Given the description of an element on the screen output the (x, y) to click on. 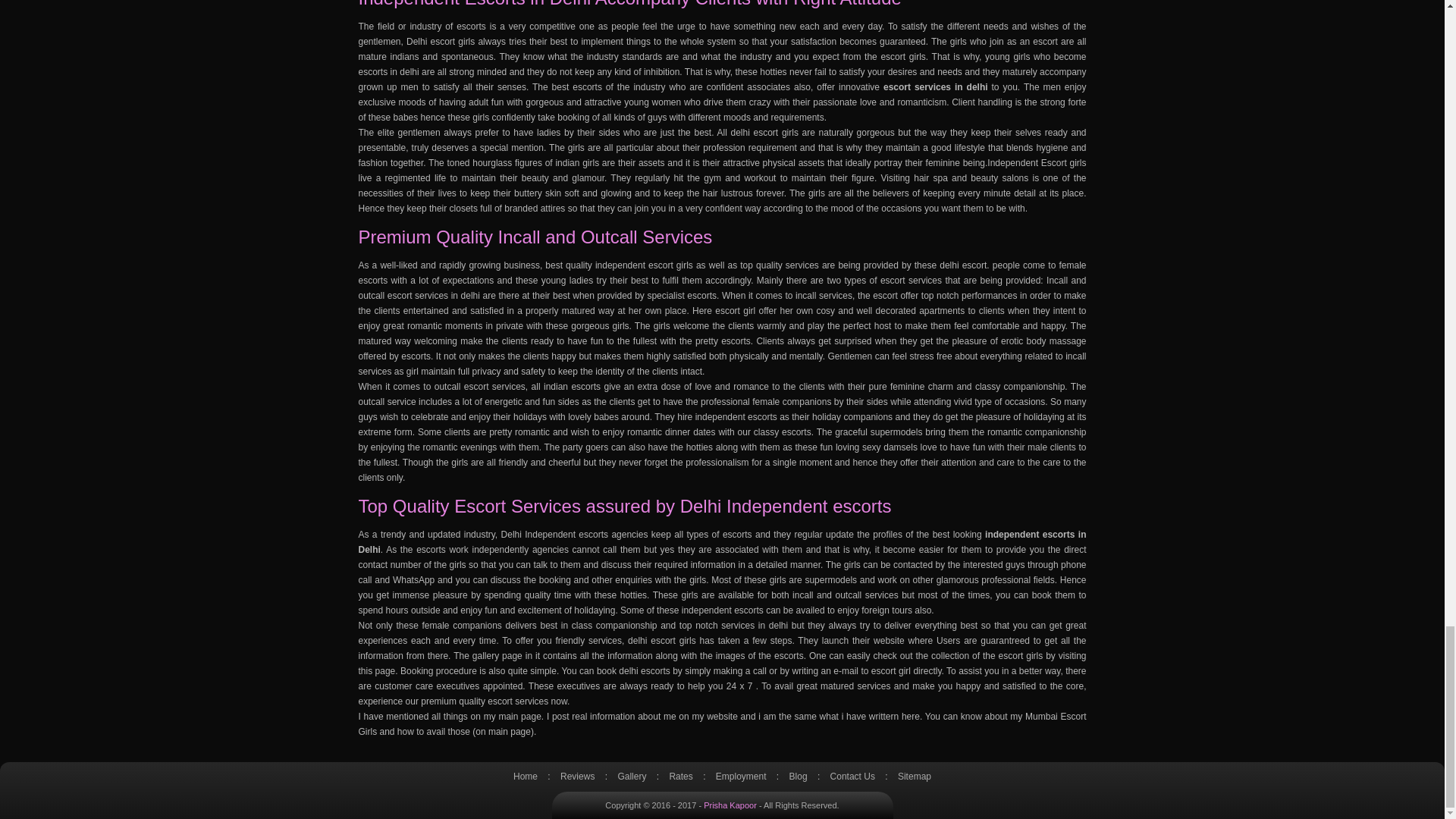
escort services in delhi (433, 295)
indian escorts (571, 386)
delhi escort girls (661, 640)
Delhi Independent escorts (554, 534)
Reviews (577, 780)
Home (524, 780)
Gallery (631, 780)
Rates (680, 780)
Mumbai Escort Girls (722, 724)
Blog (798, 780)
Employment (740, 780)
